Given the description of an element on the screen output the (x, y) to click on. 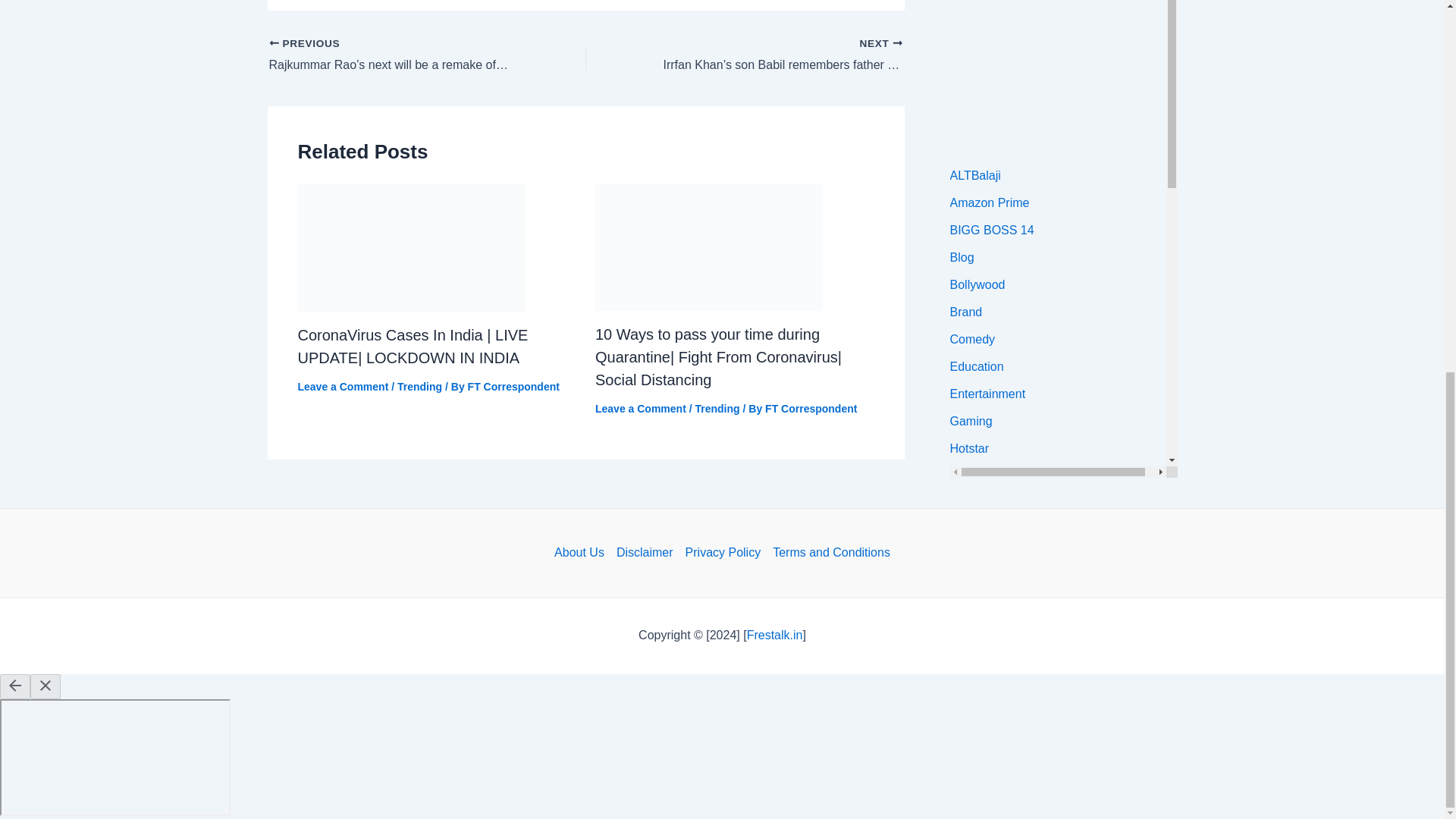
Trending (419, 386)
Leave a Comment (640, 408)
Leave a Comment (342, 386)
View all posts by FT Correspondent (811, 408)
View all posts by FT Correspondent (513, 386)
FT Correspondent (513, 386)
